Given the description of an element on the screen output the (x, y) to click on. 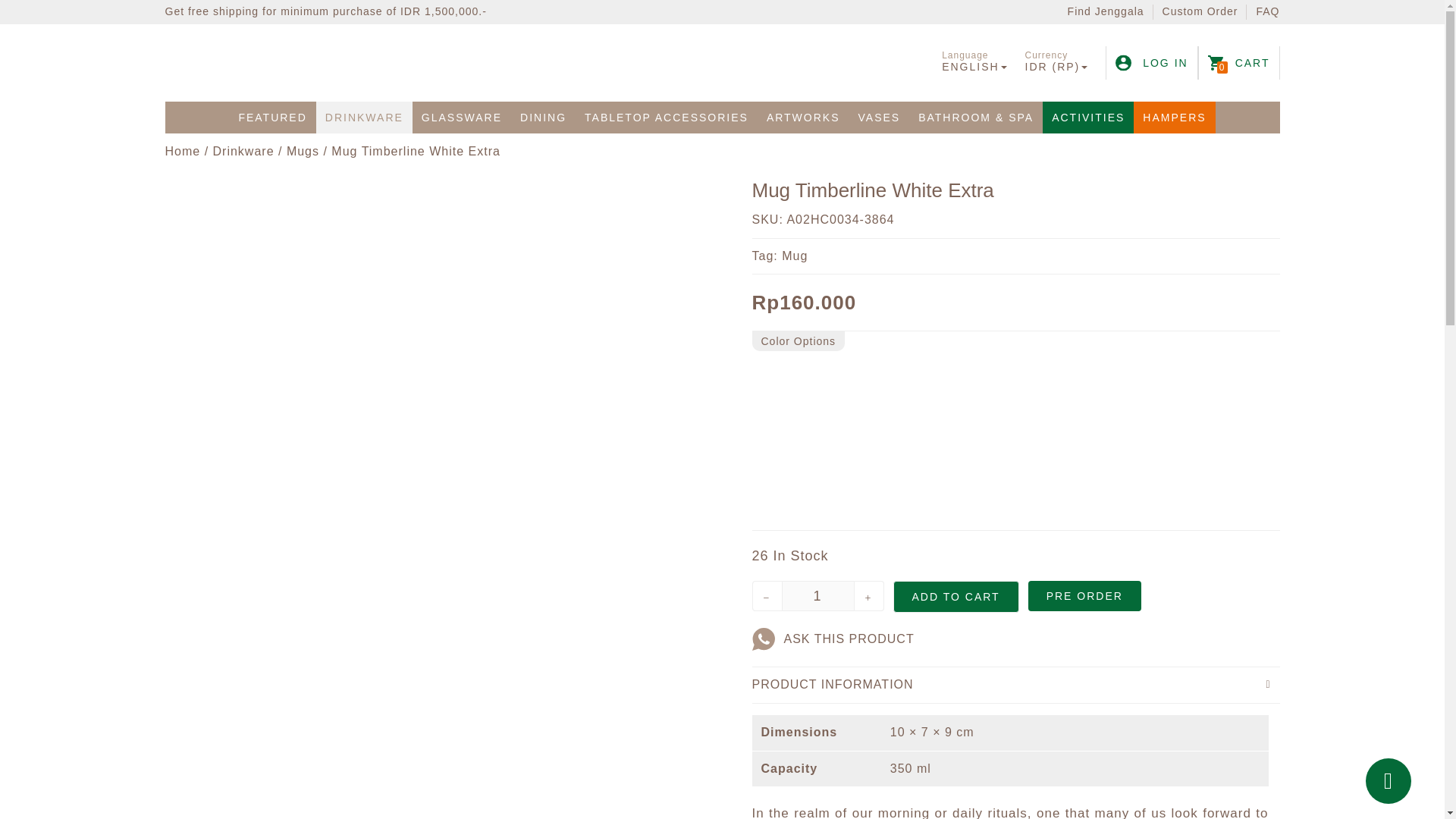
GLASSWARE (461, 117)
LOG IN (1151, 62)
DRINKWARE (363, 117)
1 (817, 595)
login (1151, 62)
DINING (543, 117)
Custom Order (1200, 10)
ENGLISH (974, 66)
Qty (817, 595)
FAQ (1267, 10)
